Given the description of an element on the screen output the (x, y) to click on. 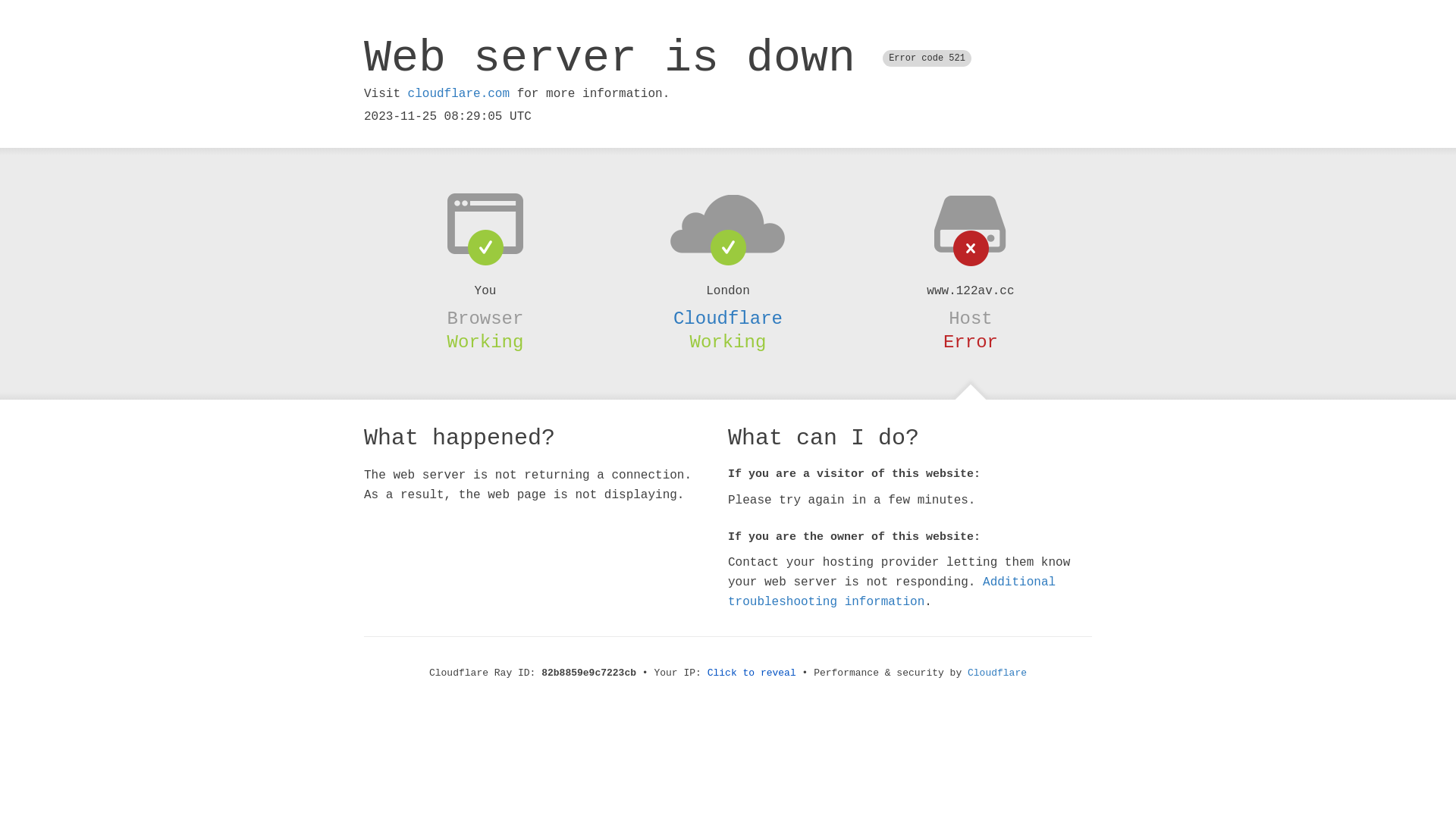
Additional troubleshooting information Element type: text (891, 591)
cloudflare.com Element type: text (458, 93)
Cloudflare Element type: text (727, 318)
Click to reveal Element type: text (751, 672)
Cloudflare Element type: text (996, 672)
